Given the description of an element on the screen output the (x, y) to click on. 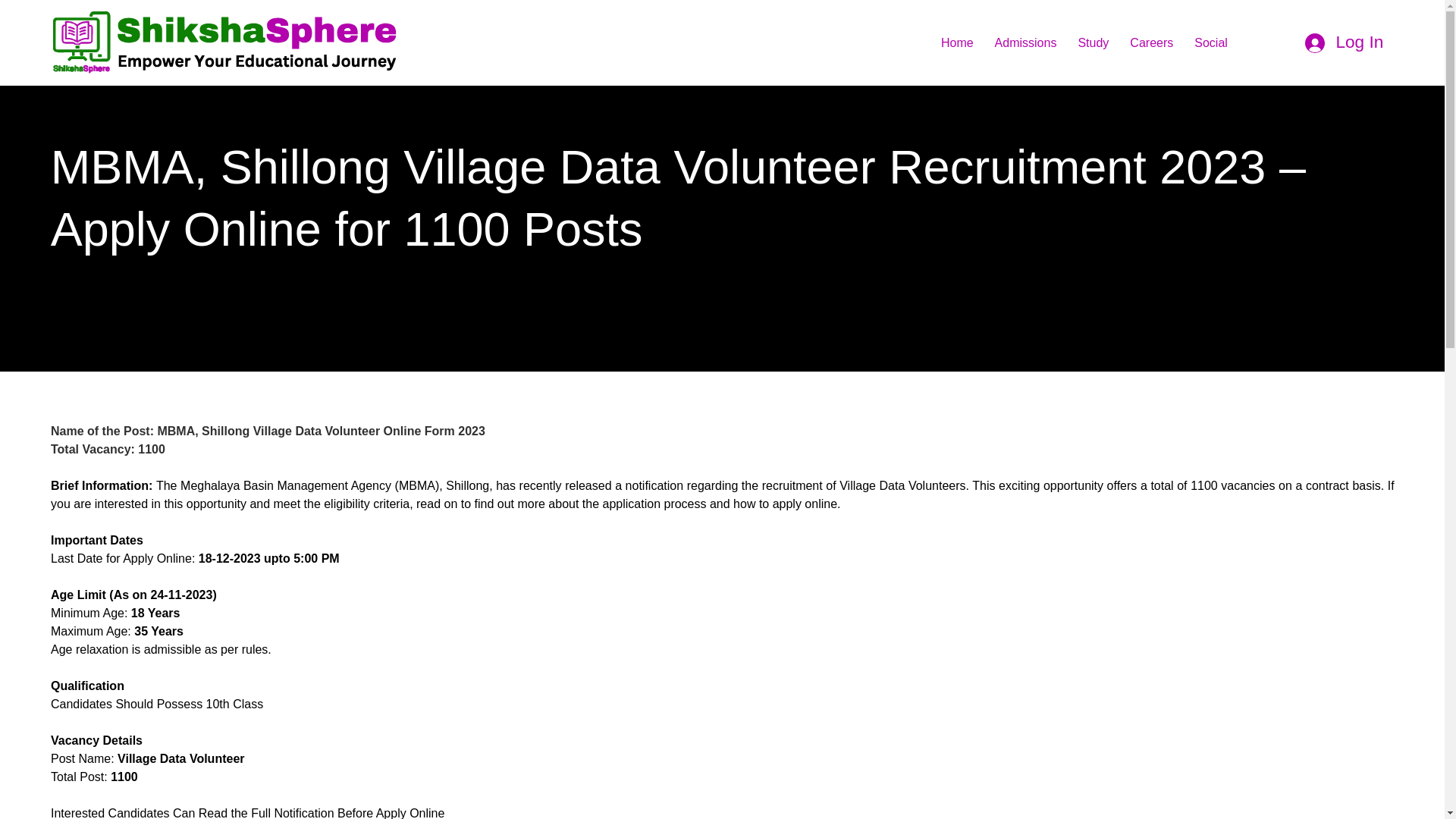
Log In (1343, 42)
Home (957, 42)
